Given the description of an element on the screen output the (x, y) to click on. 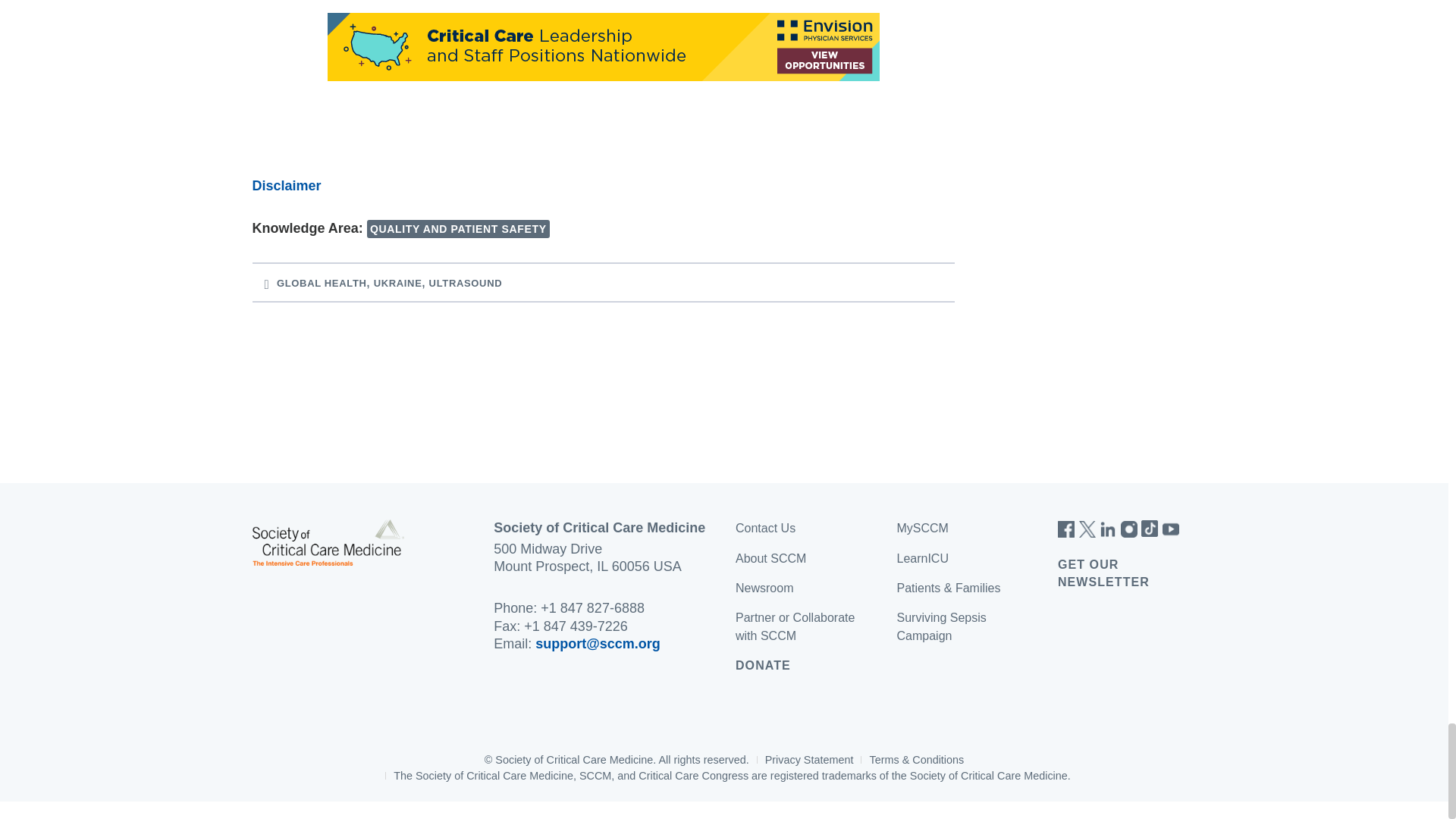
TikTok (1149, 527)
TWITTER (1087, 527)
YouTube (1170, 527)
LINKEDIN (1107, 527)
INSTAGRAM (1129, 527)
FACEBOOK (1066, 527)
